Given the description of an element on the screen output the (x, y) to click on. 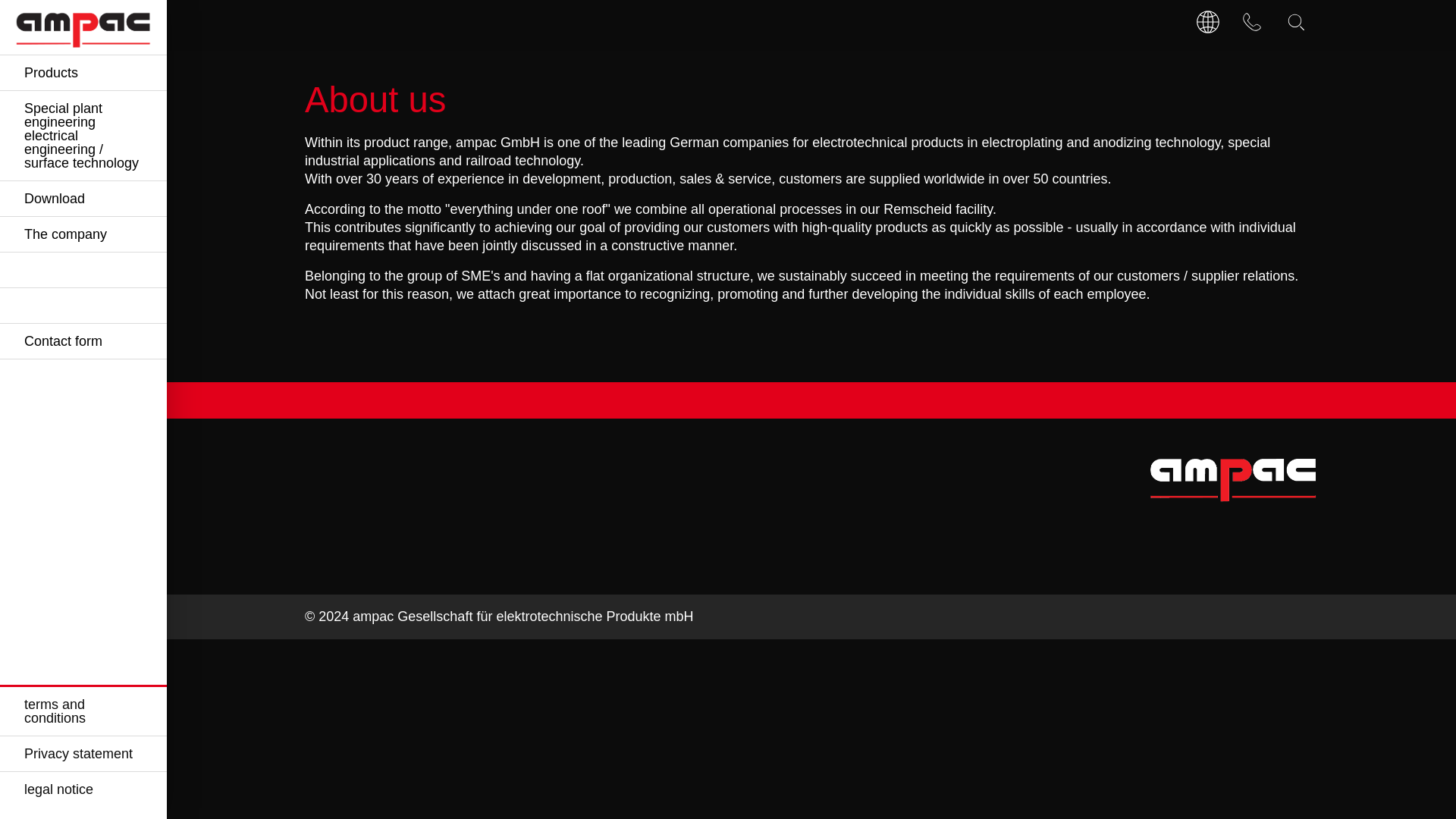
To home page (82, 27)
To home page (1232, 476)
Products (83, 72)
